Given the description of an element on the screen output the (x, y) to click on. 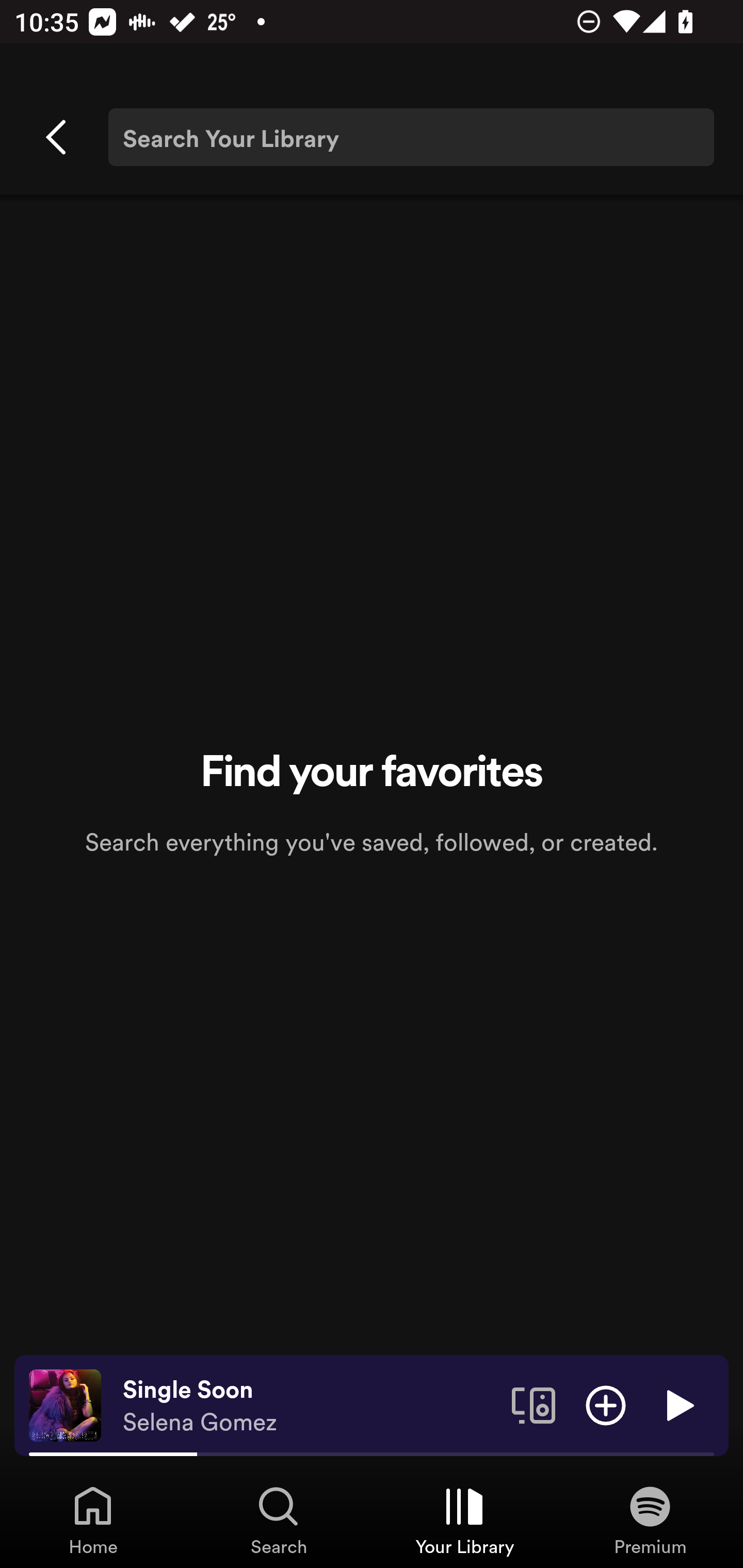
Cancel (57, 137)
Search Your Library (411, 137)
Single Soon Selena Gomez (309, 1405)
The cover art of the currently playing track (64, 1404)
Connect to a device. Opens the devices menu (533, 1404)
Add item (605, 1404)
Play (677, 1404)
Home, Tab 1 of 4 Home Home (92, 1519)
Search, Tab 2 of 4 Search Search (278, 1519)
Your Library, Tab 3 of 4 Your Library Your Library (464, 1519)
Premium, Tab 4 of 4 Premium Premium (650, 1519)
